Given the description of an element on the screen output the (x, y) to click on. 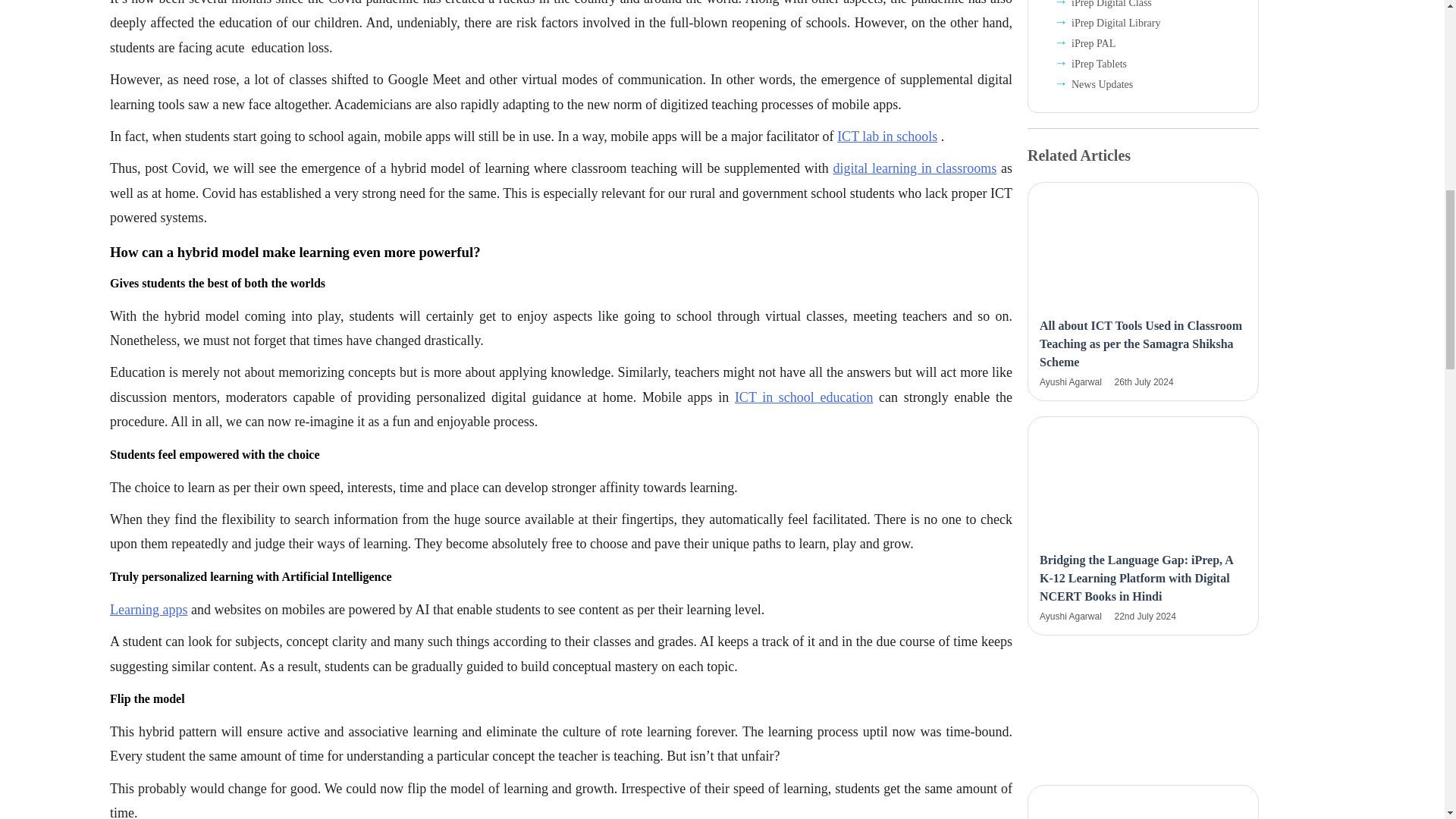
ICT lab in schools (887, 136)
Learning apps (148, 609)
ICT in school education (804, 396)
digital learning in classrooms (913, 168)
